Given the description of an element on the screen output the (x, y) to click on. 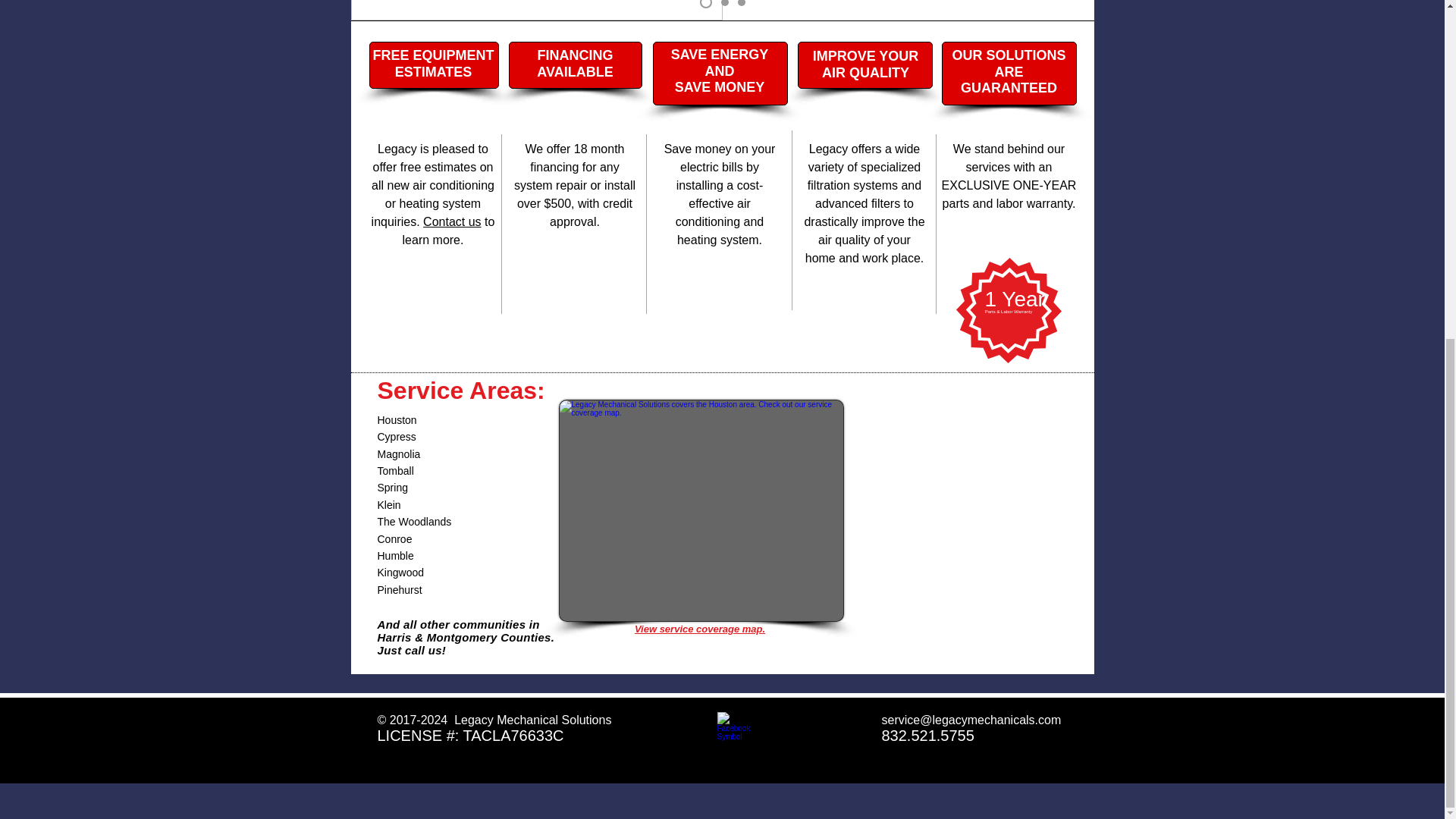
View service coverage map. (699, 628)
Contact us (451, 221)
832.521.5755 (927, 735)
